Given the description of an element on the screen output the (x, y) to click on. 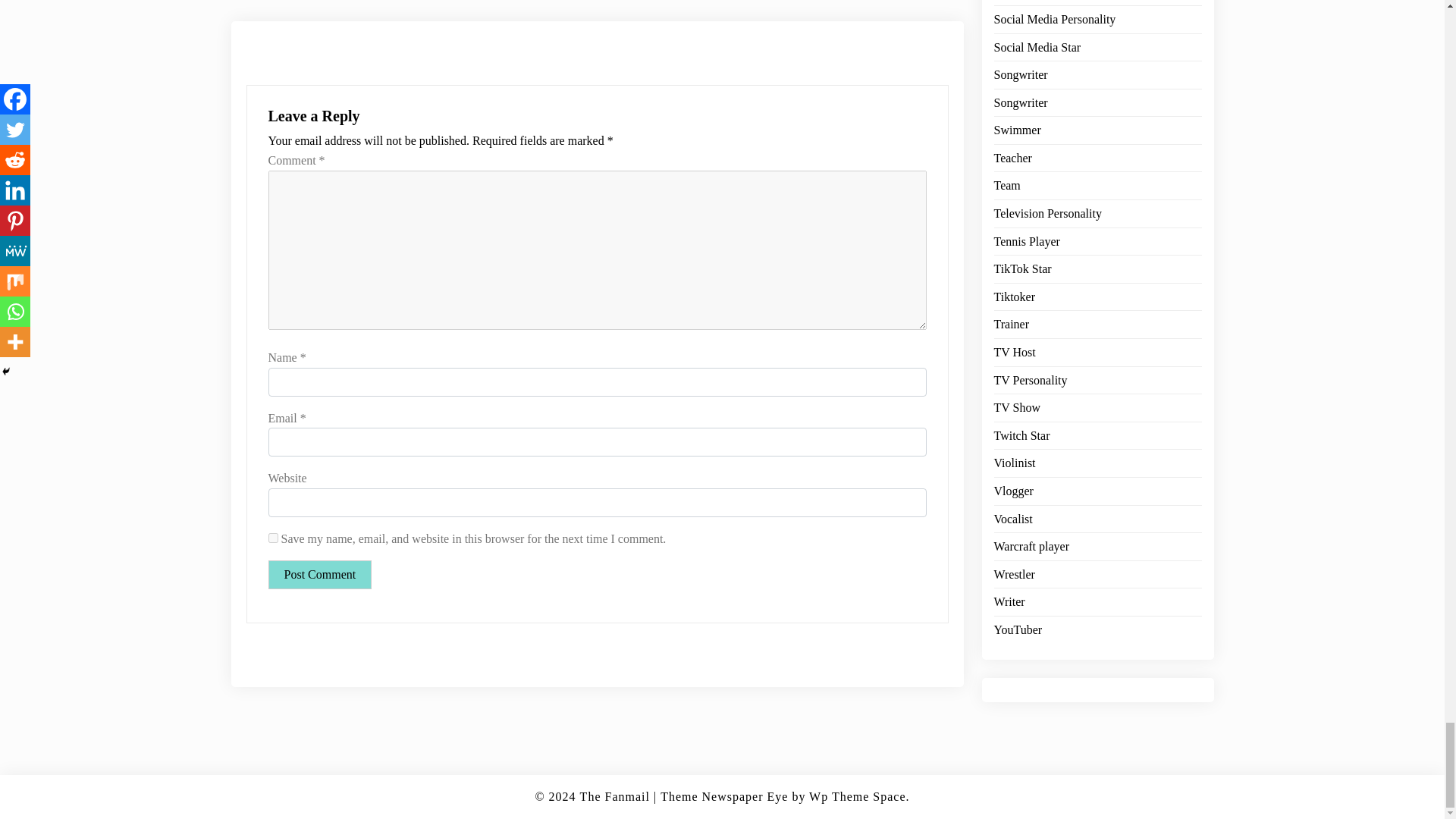
yes (272, 537)
Post Comment (319, 574)
